Given the description of an element on the screen output the (x, y) to click on. 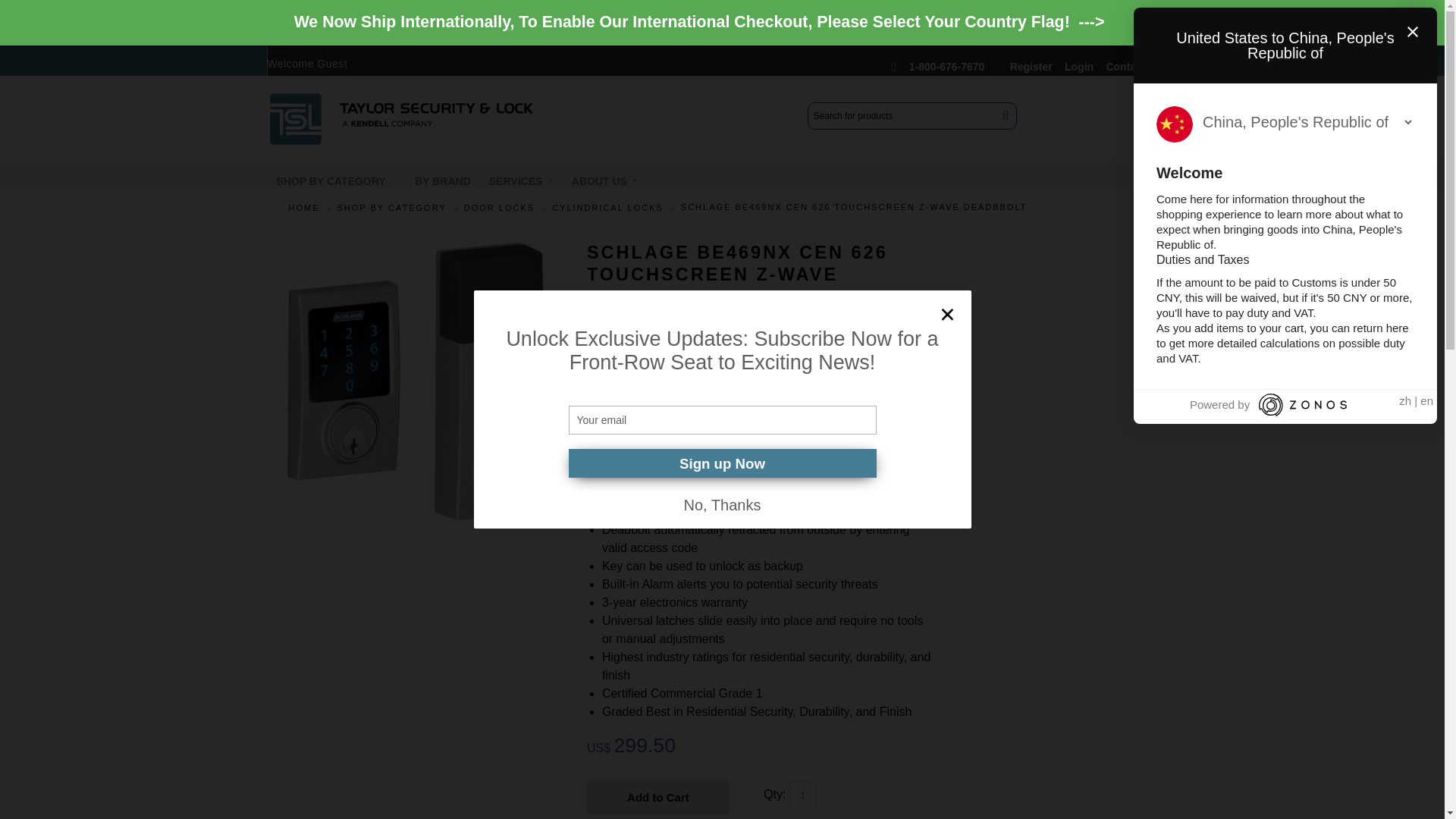
1 (802, 795)
Contact Us (1133, 63)
Check the items in your Cart (1147, 105)
 Schlage BE469NX CEN 626 Touchscreen Z-Wave Deadbbolt (416, 380)
 Schlage BE469NX CEN 626 Touchscreen Z-Wave Deadbbolt (416, 250)
Register (1031, 63)
Login (1078, 63)
